Given the description of an element on the screen output the (x, y) to click on. 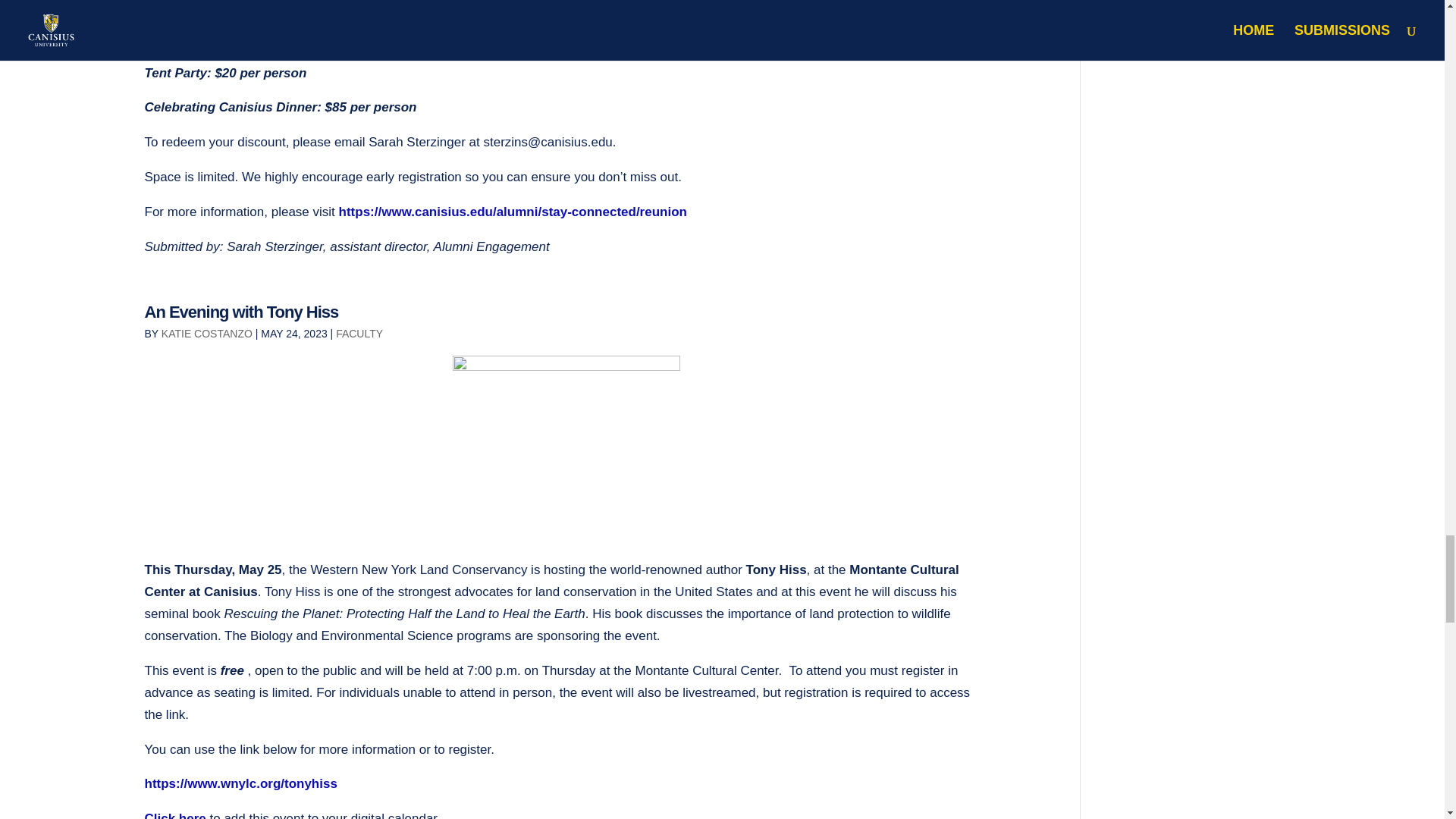
KATIE COSTANZO (206, 333)
FACULTY (359, 333)
Posts by Katie Costanzo (206, 333)
An Evening with Tony Hiss (240, 311)
Click here (174, 815)
